Given the description of an element on the screen output the (x, y) to click on. 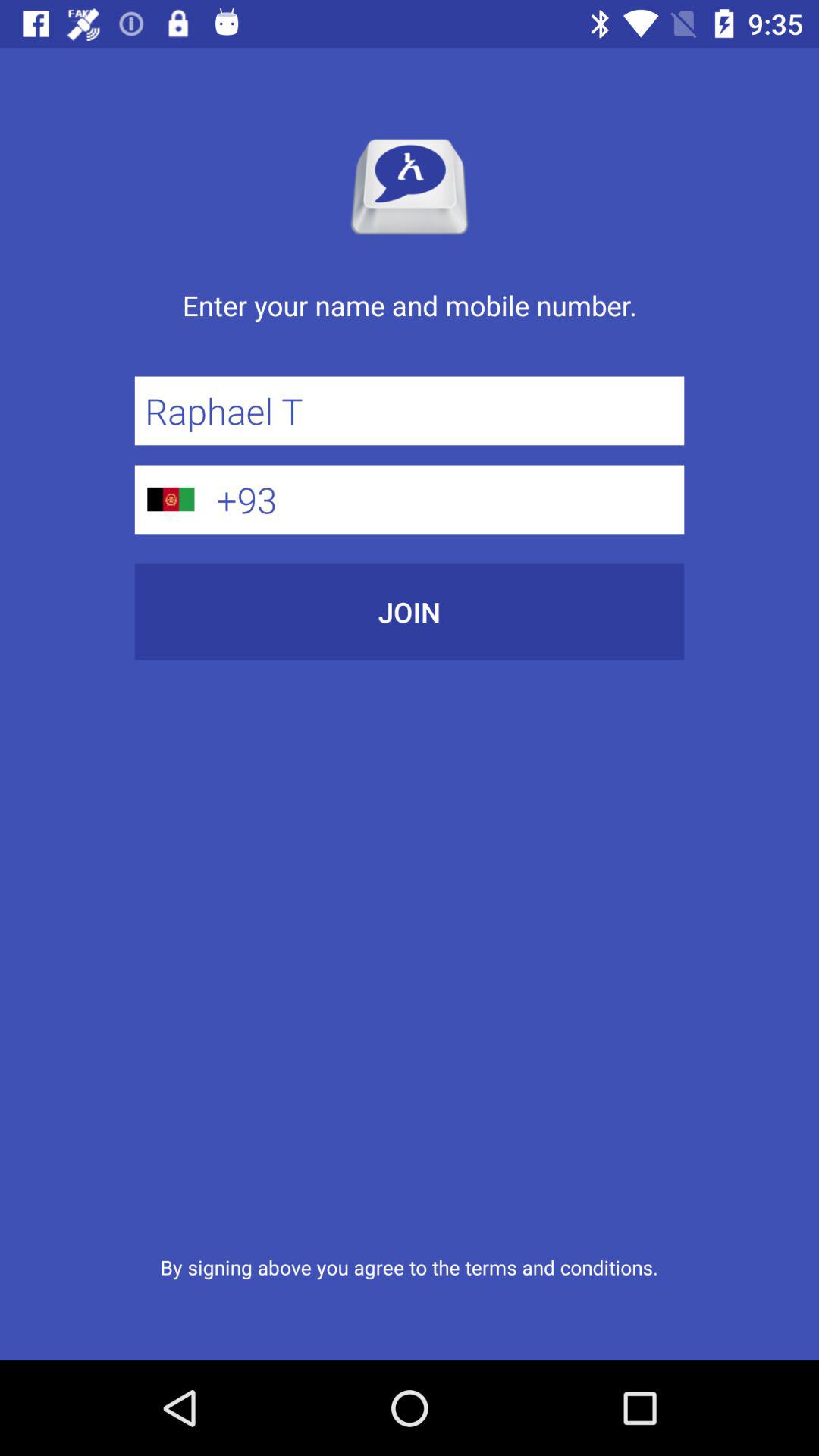
launch item above +93 (409, 410)
